Given the description of an element on the screen output the (x, y) to click on. 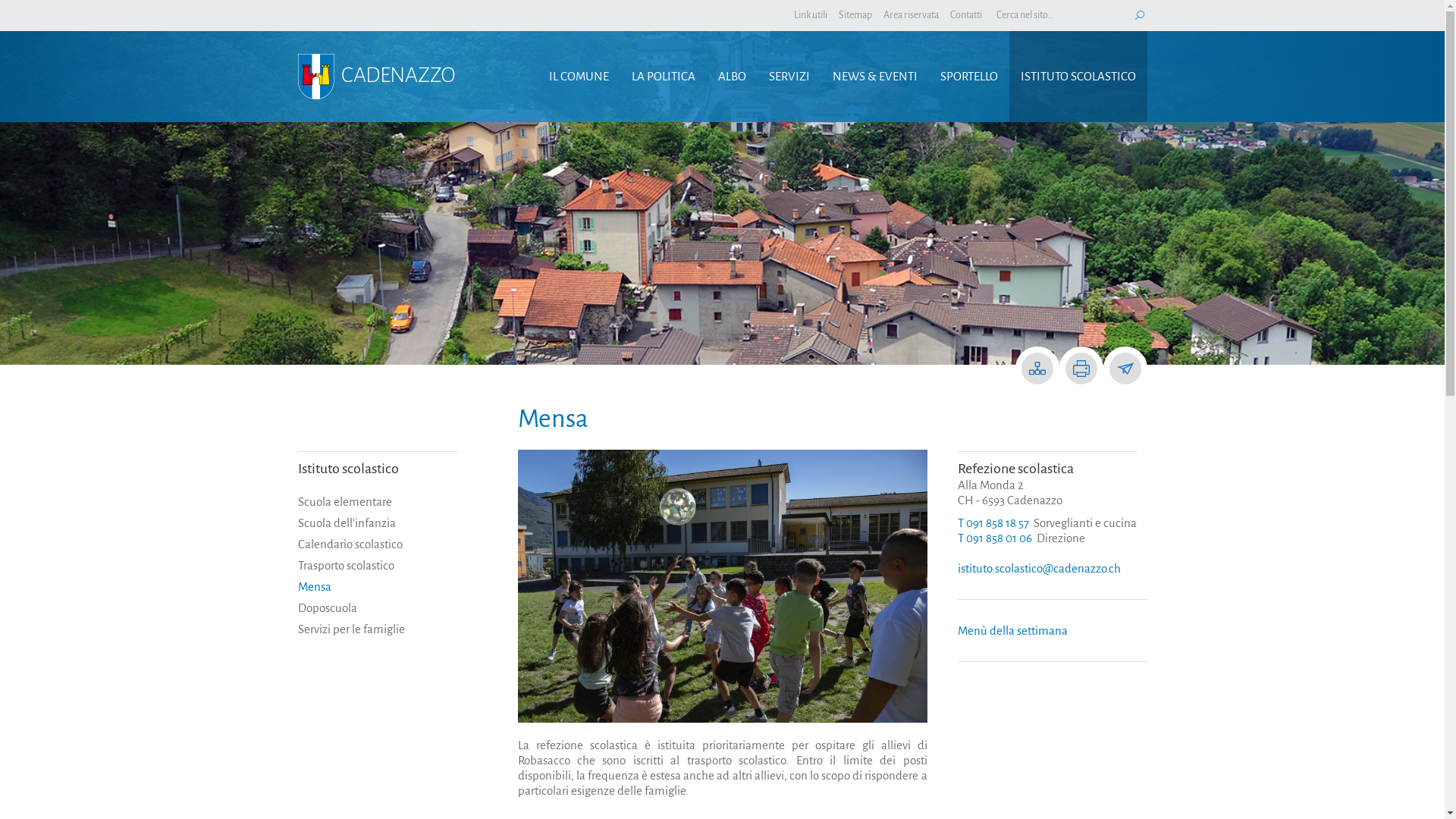
IL COMUNE Element type: text (577, 76)
T 091 858 01 06 Element type: text (994, 537)
Stampa la pagina Element type: hover (1080, 368)
Servizi per le famiglie Element type: text (376, 629)
ISTITUTO SCOLASTICO Element type: text (1077, 76)
Sitemap Element type: hover (1036, 368)
Scuola dell'infanzia Element type: text (376, 522)
LA POLITICA Element type: text (663, 76)
istituto.scolastico@cadenazzo.ch Element type: text (1038, 567)
Contatti Element type: text (965, 15)
Link utili Element type: text (809, 15)
Scuola elementare Element type: text (376, 501)
Scrivici Element type: hover (1124, 368)
Doposcuola Element type: text (376, 607)
Trasporto scolastico Element type: text (376, 565)
  Element type: text (1138, 14)
T 091 858 18 57 Element type: text (992, 522)
SPORTELLO Element type: text (968, 76)
SERVIZI Element type: text (788, 76)
Sitemap Element type: text (855, 15)
Area riservata Element type: text (910, 15)
Mensa Element type: text (376, 586)
NEWS & EVENTI Element type: text (874, 76)
Calendario scolastico Element type: text (376, 544)
ALBO Element type: text (731, 76)
